Given the description of an element on the screen output the (x, y) to click on. 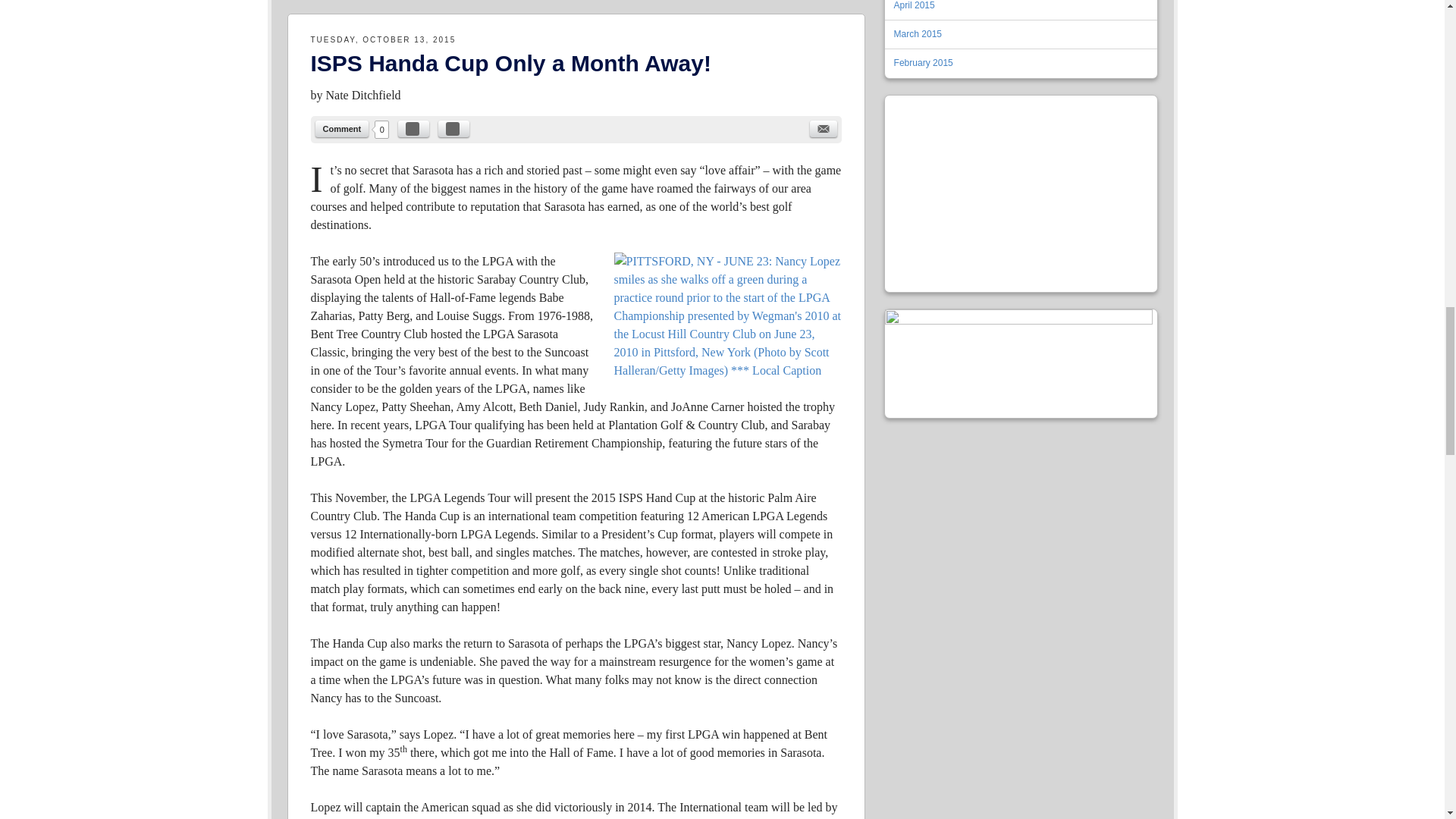
View all posts by Nate Ditchfield (363, 94)
Permalink to ISPS Handa Cup Only a Month Away! (511, 63)
Nate Ditchfield (363, 94)
Comment (342, 128)
Tweet this Post (453, 128)
email (823, 128)
Share on Facebook (413, 128)
Comment on this Post (342, 128)
ISPS Handa Cup Only a Month Away! (511, 63)
